Given the description of an element on the screen output the (x, y) to click on. 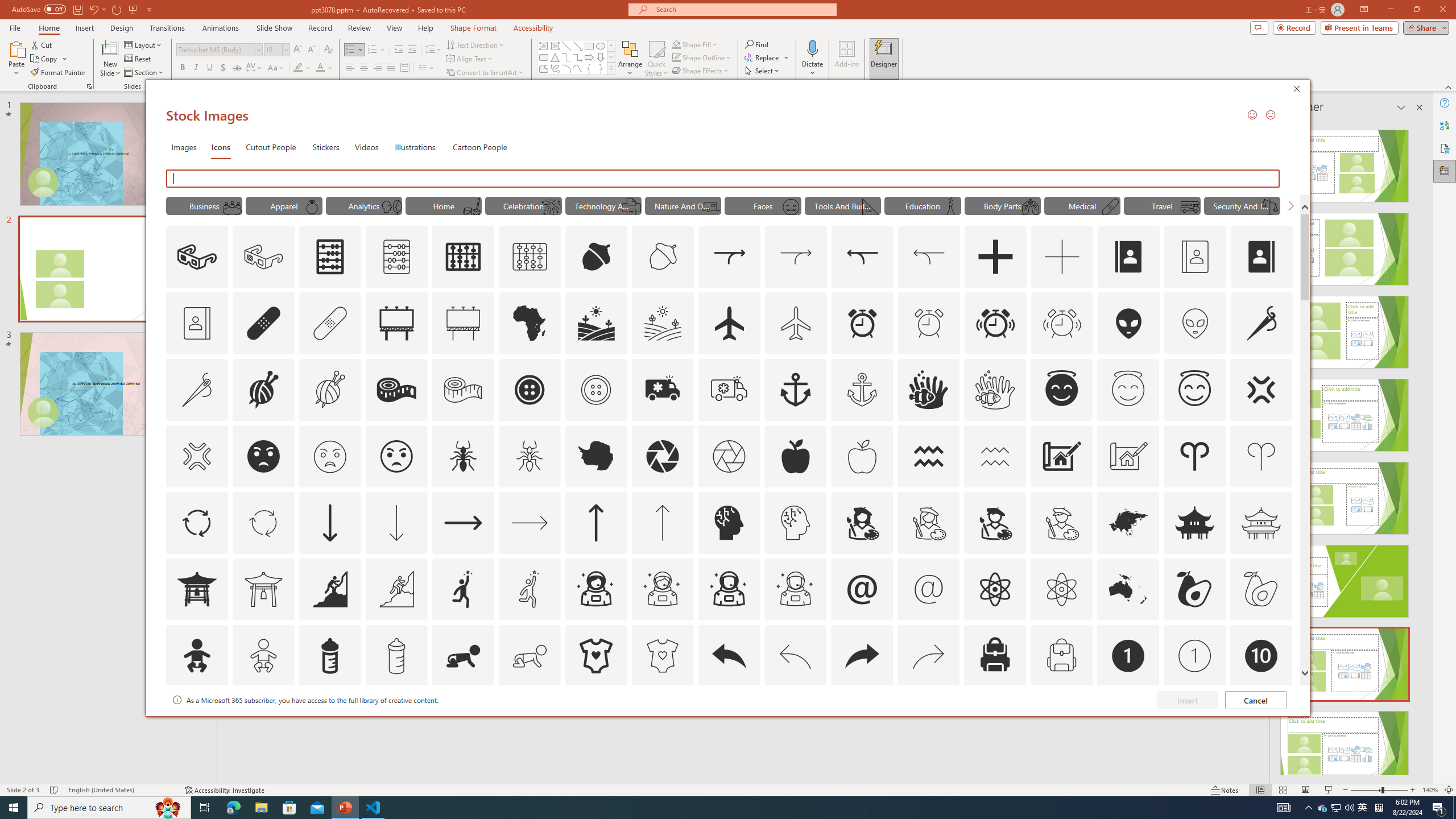
Images (183, 146)
AutomationID: Icons_Abacus (330, 256)
AutomationID: Icons_Asia (1128, 522)
AutomationID: Icons_Back_LTR_M (795, 655)
AutomationID: Icons_ArrowRight (462, 522)
AutomationID: Icons_ArtificialIntelligence_M (795, 522)
"Business" Icons. (203, 205)
AutomationID: Icons_Printer_M (631, 206)
AutomationID: Icons_Badge5_M (729, 721)
AutomationID: Icons_AlterationsTailoring2_M (462, 389)
Select (762, 69)
